Given the description of an element on the screen output the (x, y) to click on. 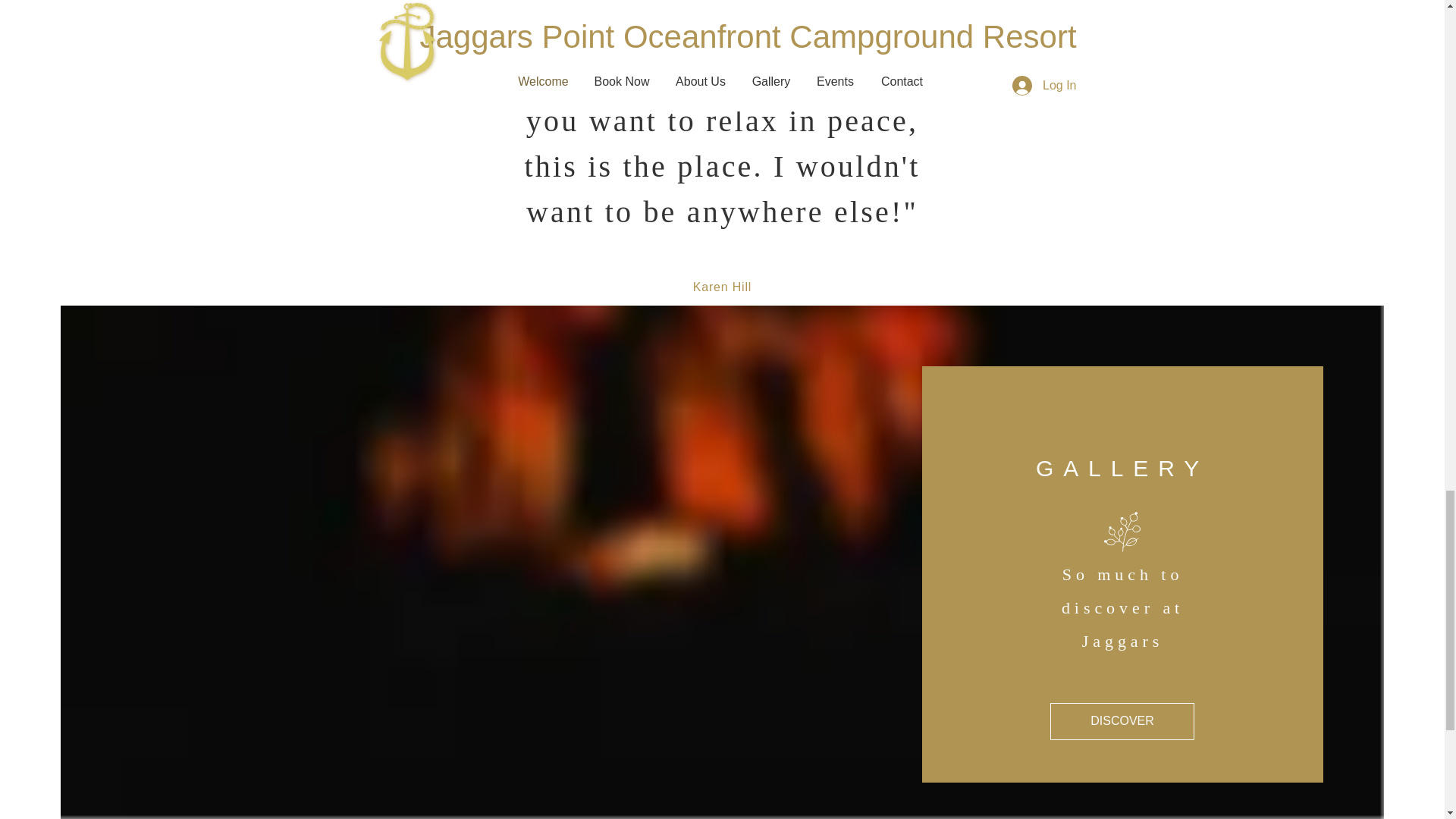
DISCOVER (1121, 721)
